Given the description of an element on the screen output the (x, y) to click on. 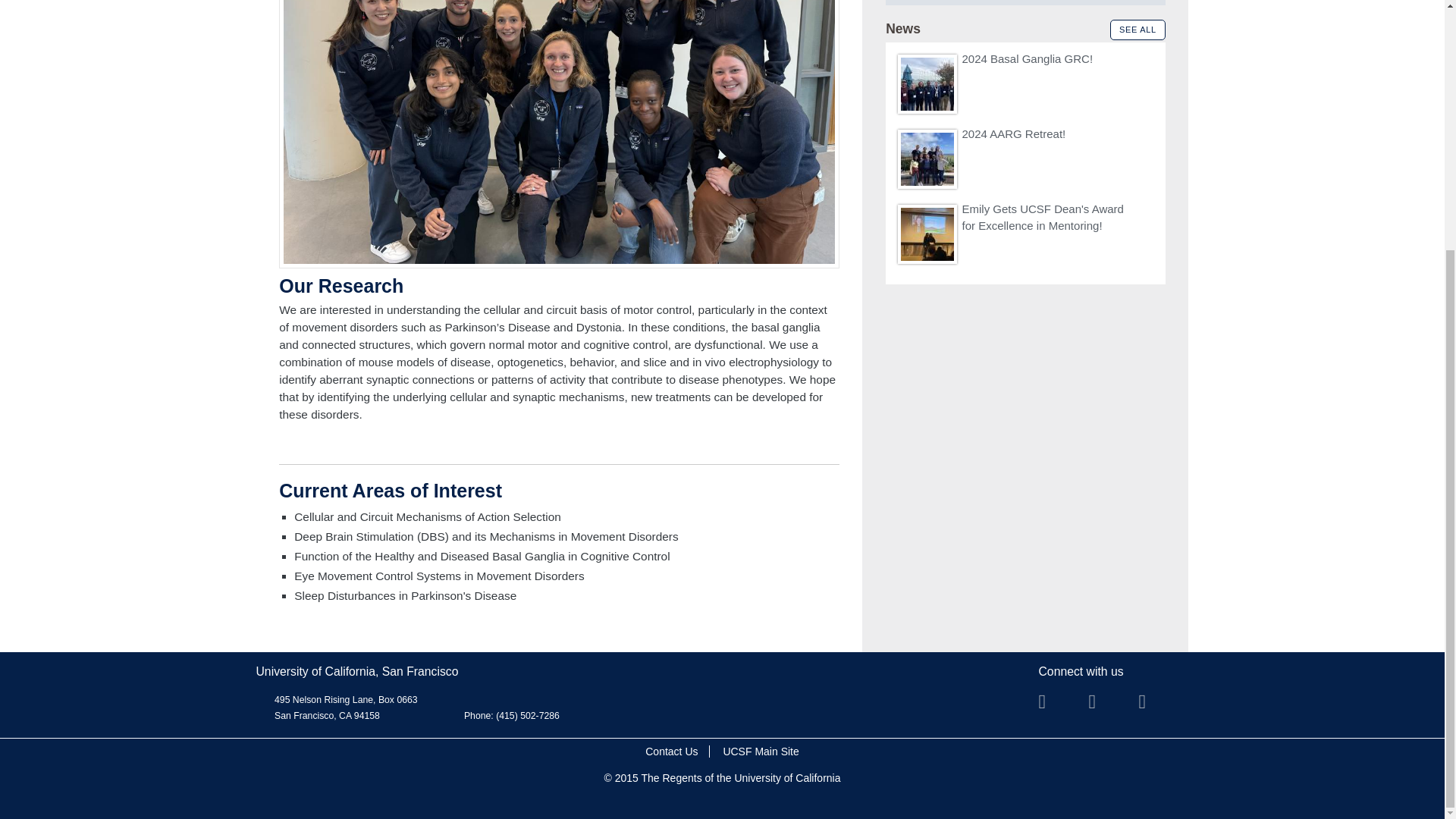
Emily Gets UCSF Dean's Award for Excellence in Mentoring! (1042, 216)
2024 AARG Retreat! (1012, 133)
Facebook (1104, 707)
Contact Us (670, 751)
Google Plus (1153, 707)
SEE ALL (1137, 29)
UCSF Main Site (760, 751)
2024 Basal Ganglia GRC! (1026, 58)
Twitter (1053, 707)
